Given the description of an element on the screen output the (x, y) to click on. 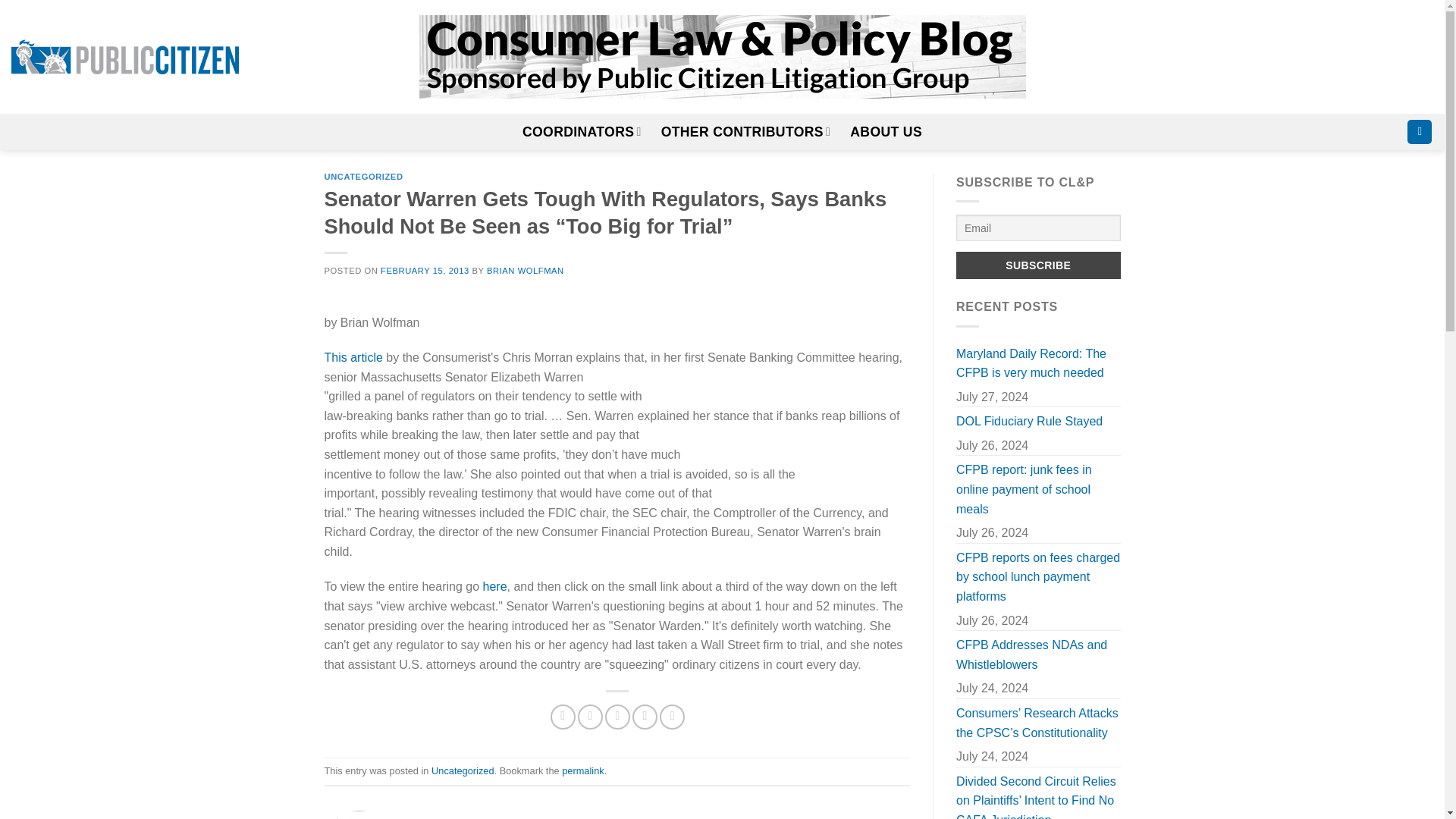
This article (353, 357)
ABOUT US (885, 131)
CFPB report: junk fees in online payment of school meals (1038, 489)
permalink (583, 770)
Uncategorized (462, 770)
Share on Facebook (562, 716)
Subscribe (1038, 265)
Pin on Pinterest (644, 716)
Subscribe (1038, 265)
Maryland Daily Record: The CFPB is very much needed (1038, 363)
Email to a Friend (617, 716)
DOL Fiduciary Rule Stayed (1029, 421)
OTHER CONTRIBUTORS (746, 131)
BRIAN WOLFMAN (525, 270)
